Given the description of an element on the screen output the (x, y) to click on. 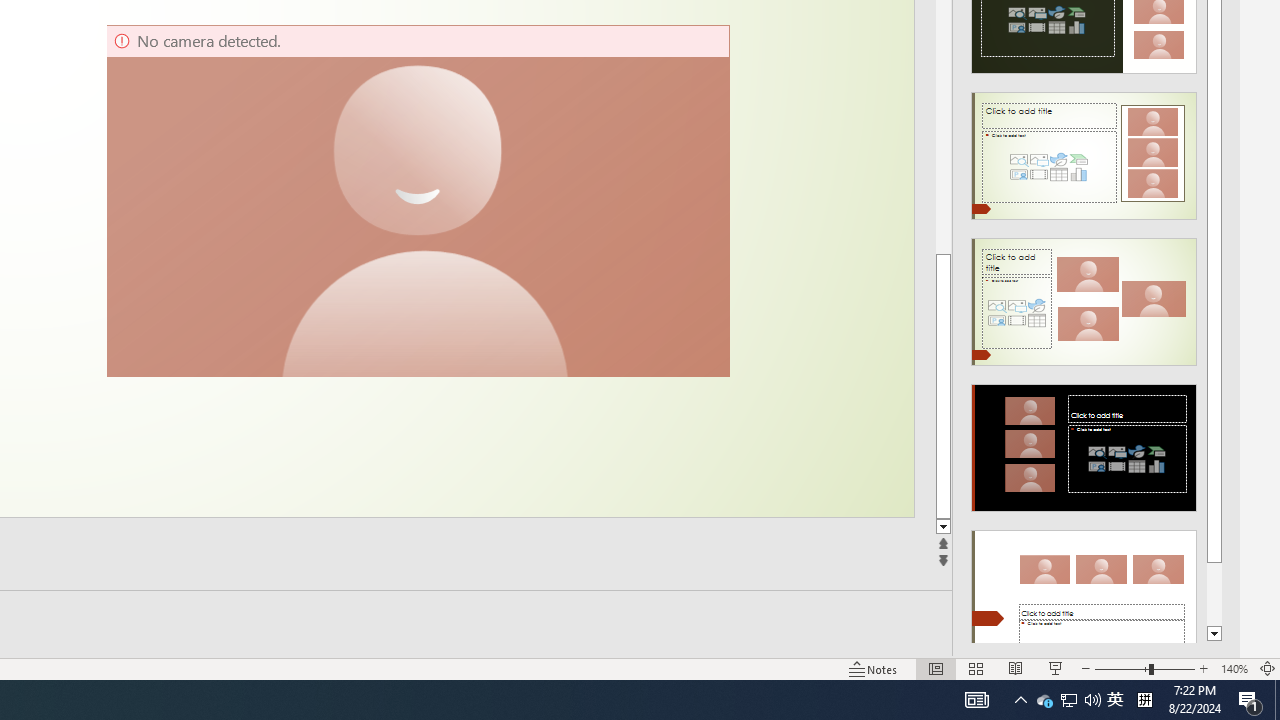
Class: NetUIImage (1083, 593)
Camera 4, No camera detected. (417, 200)
Line down (943, 527)
Design Idea (1083, 587)
Zoom 140% (1234, 668)
Page down (1213, 594)
